Given the description of an element on the screen output the (x, y) to click on. 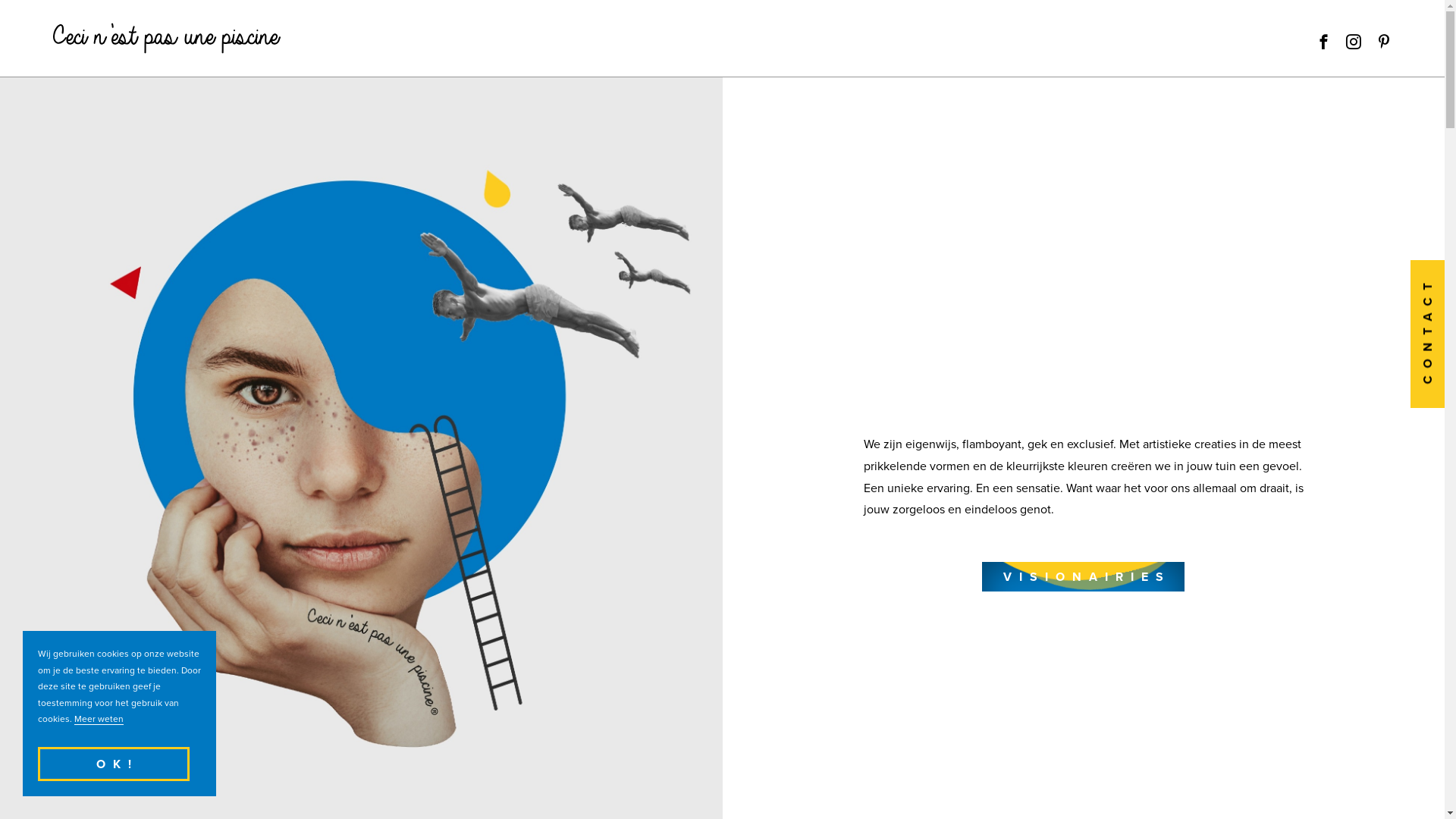
VISIONAIRIES Element type: text (1083, 576)
Pinterest Element type: text (1383, 41)
Meer weten Element type: text (98, 718)
Menu Element type: text (722, 41)
Overslaan en naar de inhoud gaan Element type: text (0, 0)
Instagram Element type: text (1353, 41)
OK! Element type: text (113, 763)
Facebook Element type: text (1322, 41)
